Given the description of an element on the screen output the (x, y) to click on. 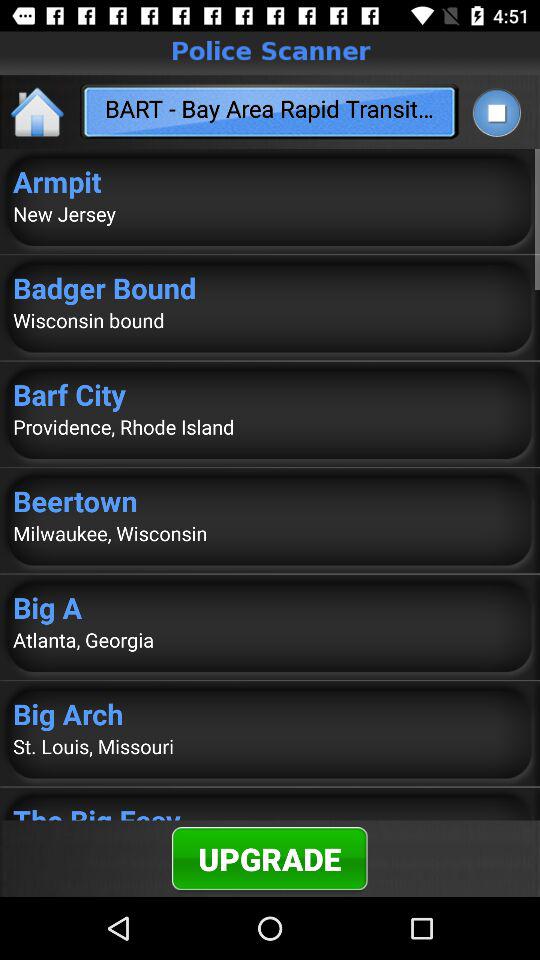
scroll until badger bound (269, 287)
